Given the description of an element on the screen output the (x, y) to click on. 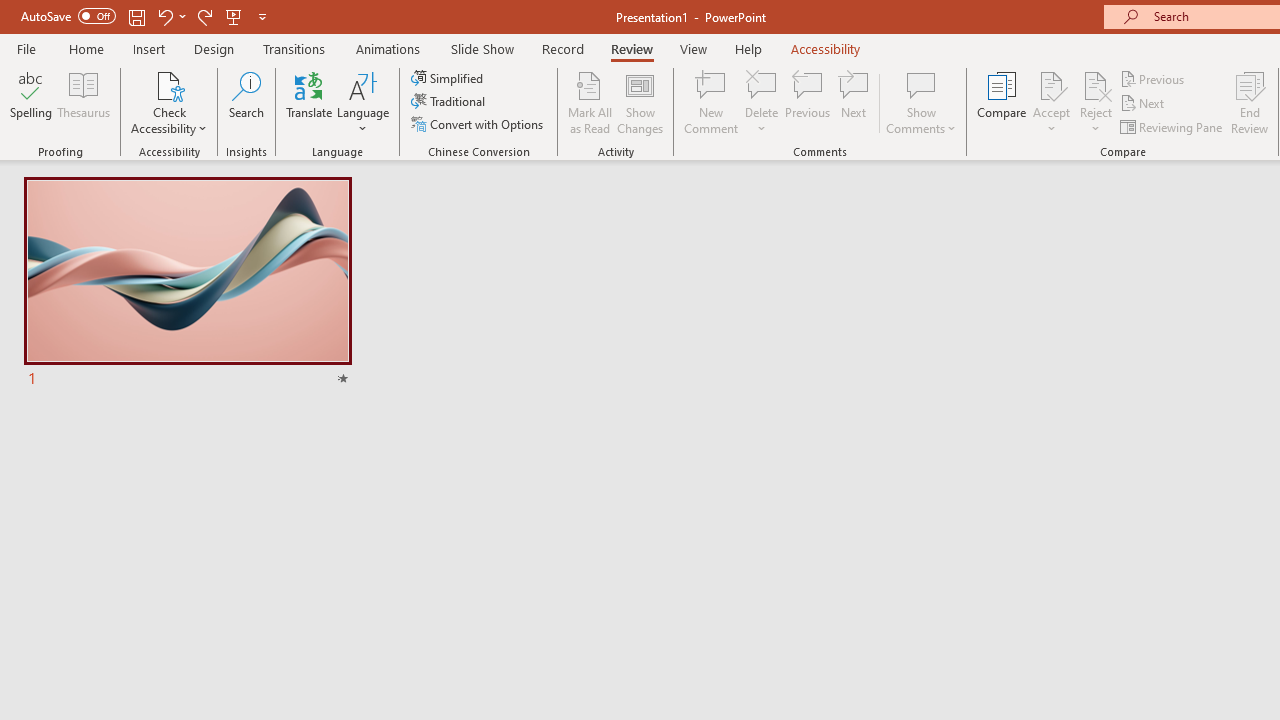
Previous (1153, 78)
Translate (309, 102)
Reviewing Pane (1172, 126)
Next (1144, 103)
Show Comments (921, 102)
Reject Change (1096, 84)
Show Changes (639, 102)
